Given the description of an element on the screen output the (x, y) to click on. 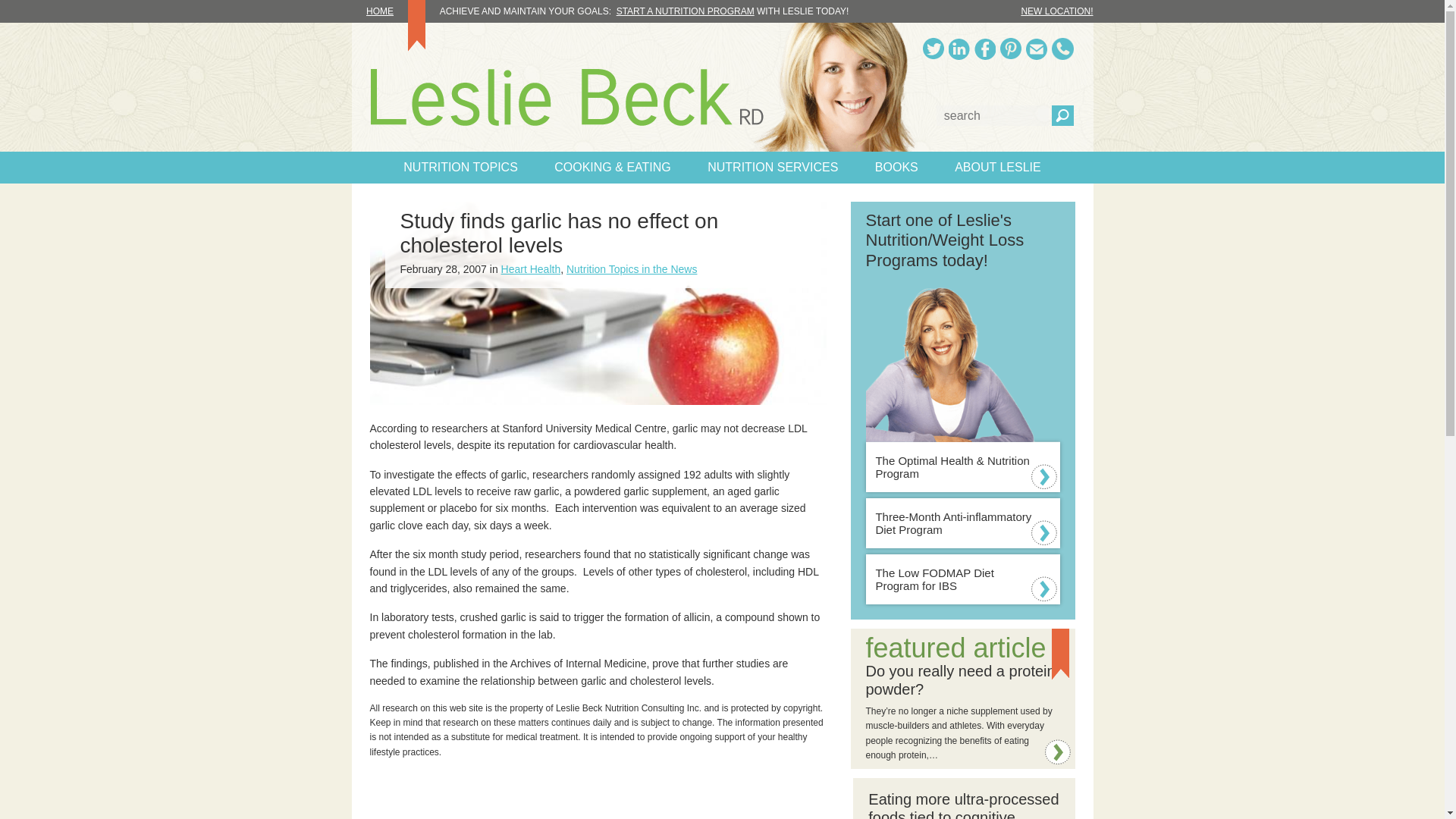
NUTRITION TOPICS (460, 167)
NEW LOCATION! (1056, 10)
Search (1062, 115)
Skip to content (19, 19)
START A NUTRITION PROGRAM (684, 10)
Twitter (933, 48)
Facebook (984, 48)
Do you really need a protein powder? (960, 679)
The Low FODMAP Diet Program for IBS (962, 579)
LinkedIn (959, 48)
HOME (389, 10)
BOOKS (896, 167)
Email (1036, 48)
Three-Month Anti-inflammatory Diet Program (962, 522)
